Given the description of an element on the screen output the (x, y) to click on. 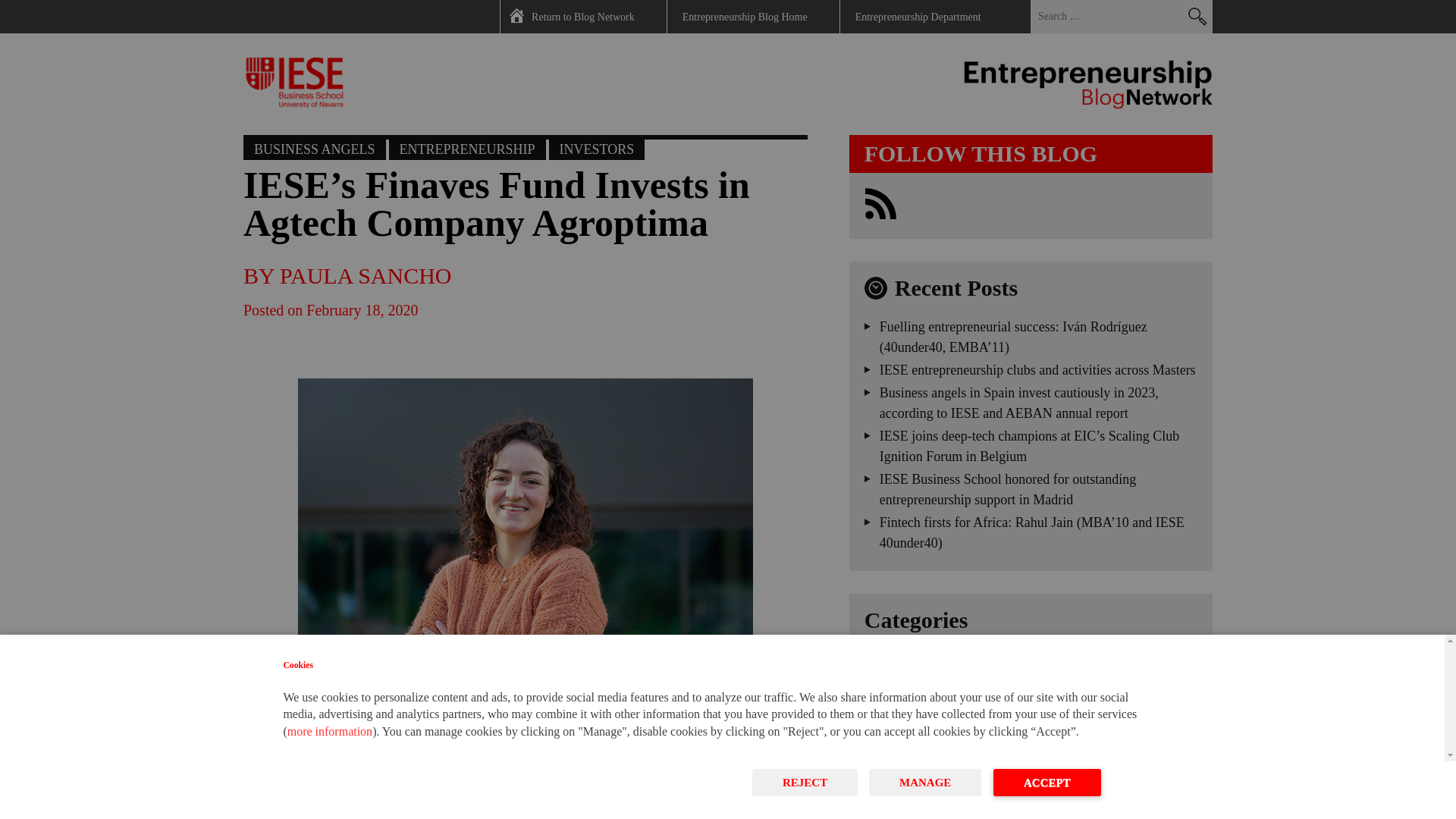
Entrepreneurship Department (918, 16)
more information (329, 730)
INVESTORS (596, 147)
Entrepreneurship Blog Home (745, 16)
Search (1197, 16)
Return to Blog Network (582, 16)
ACCEPT (1046, 782)
Agroptima (278, 797)
Finaves V (275, 774)
MANAGE (925, 782)
Search (1197, 16)
REJECT (804, 782)
BUSINESS ANGELS (314, 147)
Search (1197, 16)
ENTREPRENEURSHIP (467, 147)
